Given the description of an element on the screen output the (x, y) to click on. 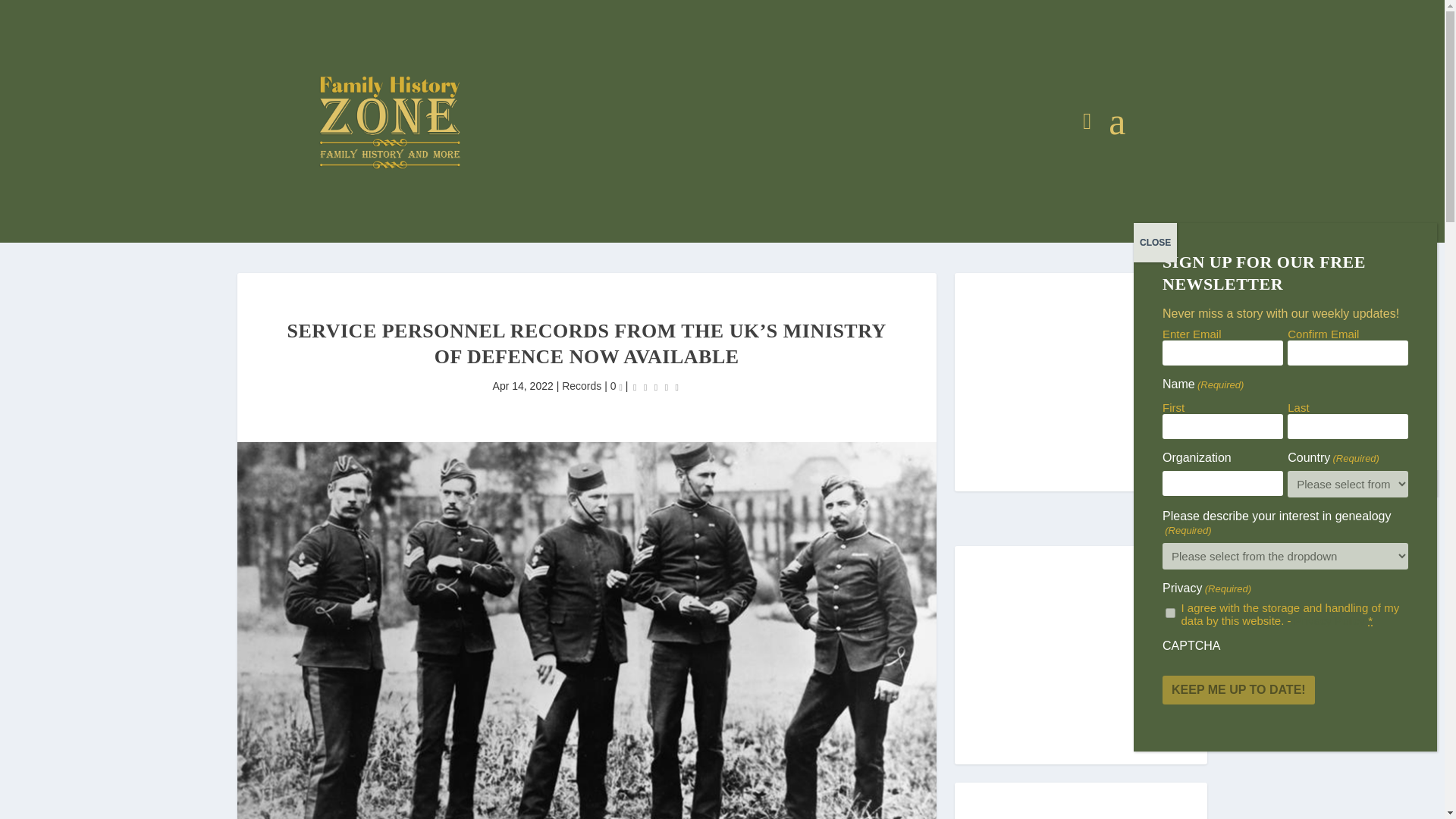
3rd party ad content (729, 120)
Records (581, 386)
Keep me up to date! (1237, 689)
Rating: 0.00 (655, 386)
0 (616, 386)
